Given the description of an element on the screen output the (x, y) to click on. 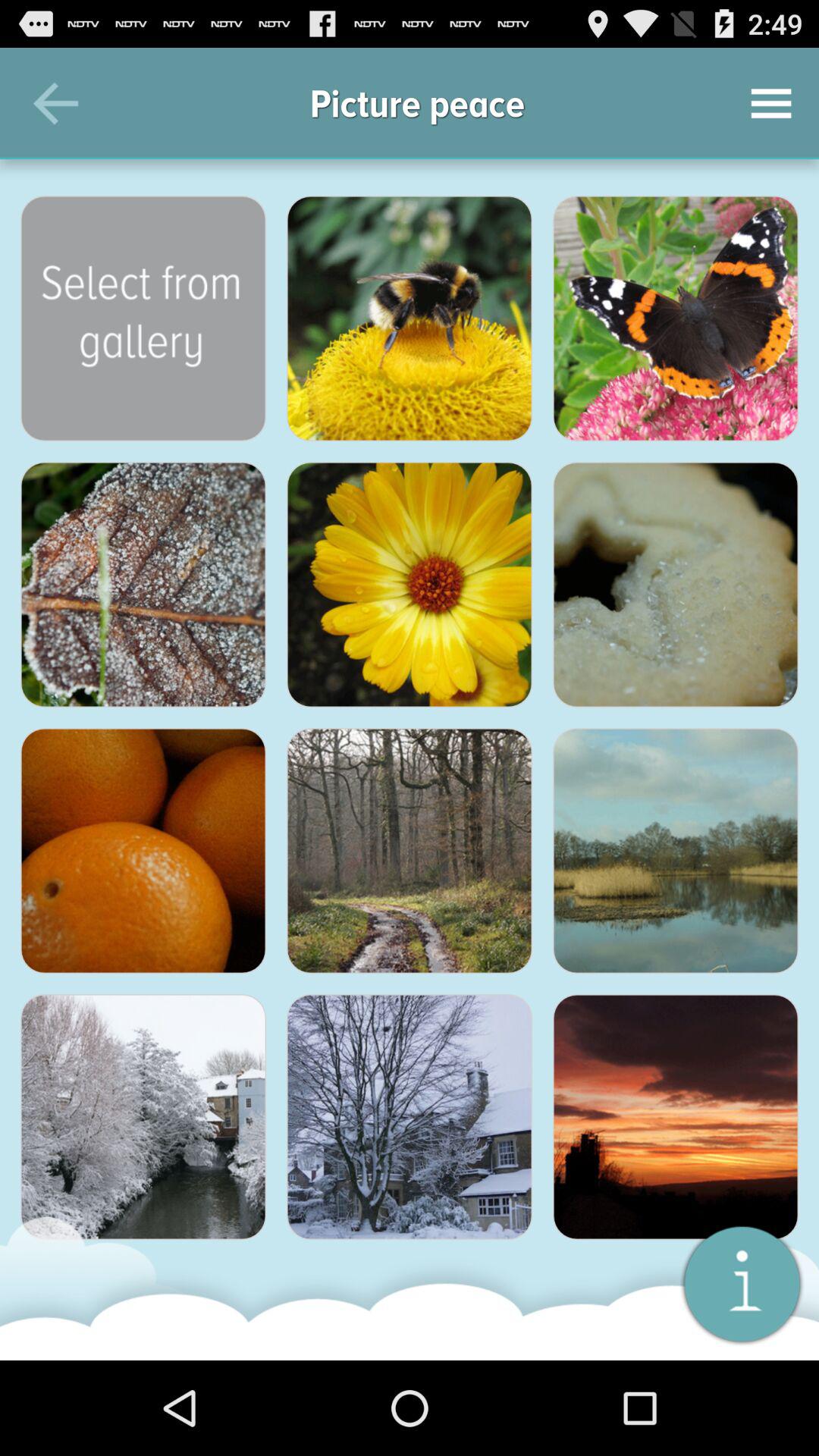
go to choosing picture (409, 584)
